Given the description of an element on the screen output the (x, y) to click on. 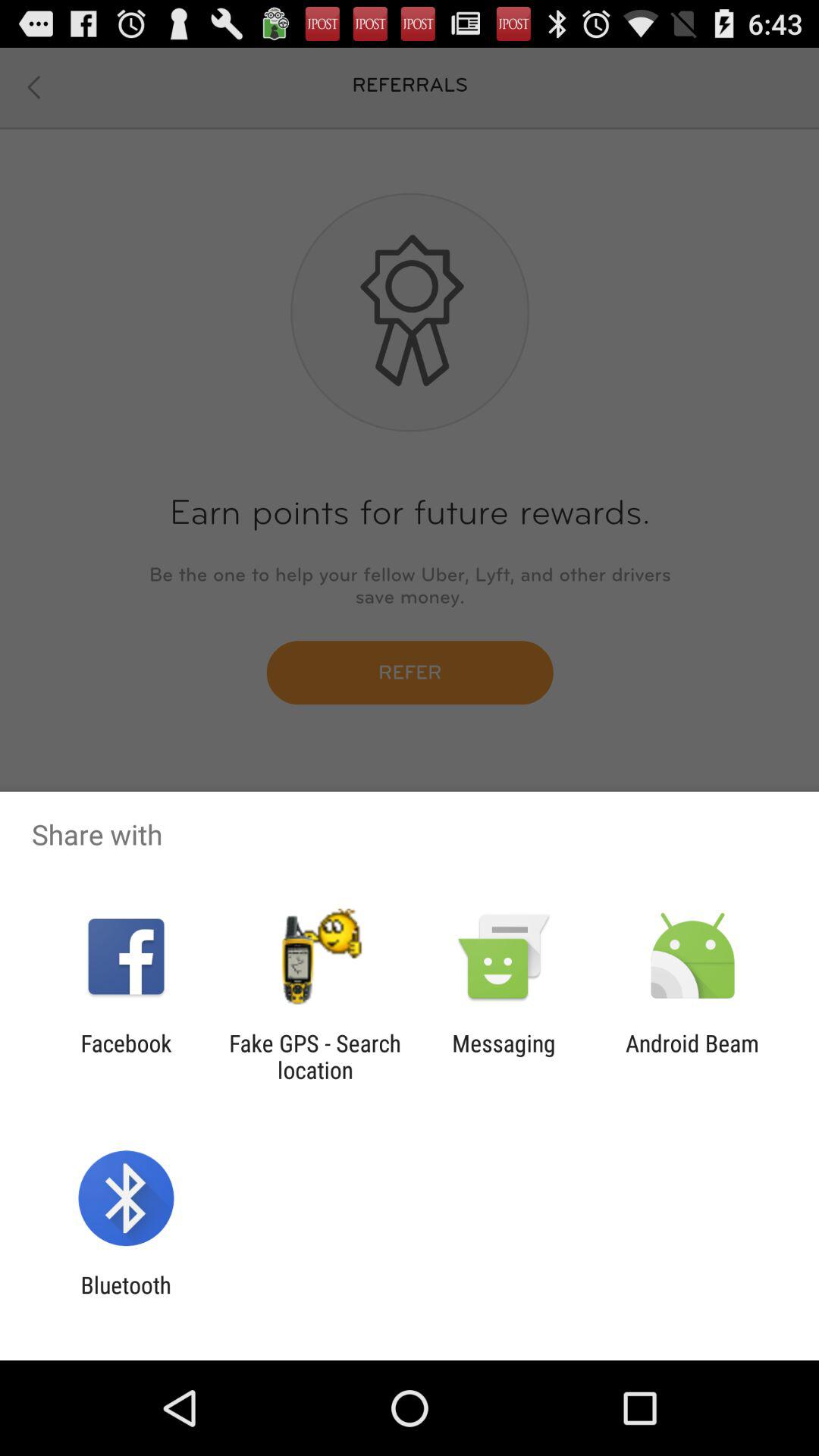
choose app to the right of fake gps search item (503, 1056)
